Given the description of an element on the screen output the (x, y) to click on. 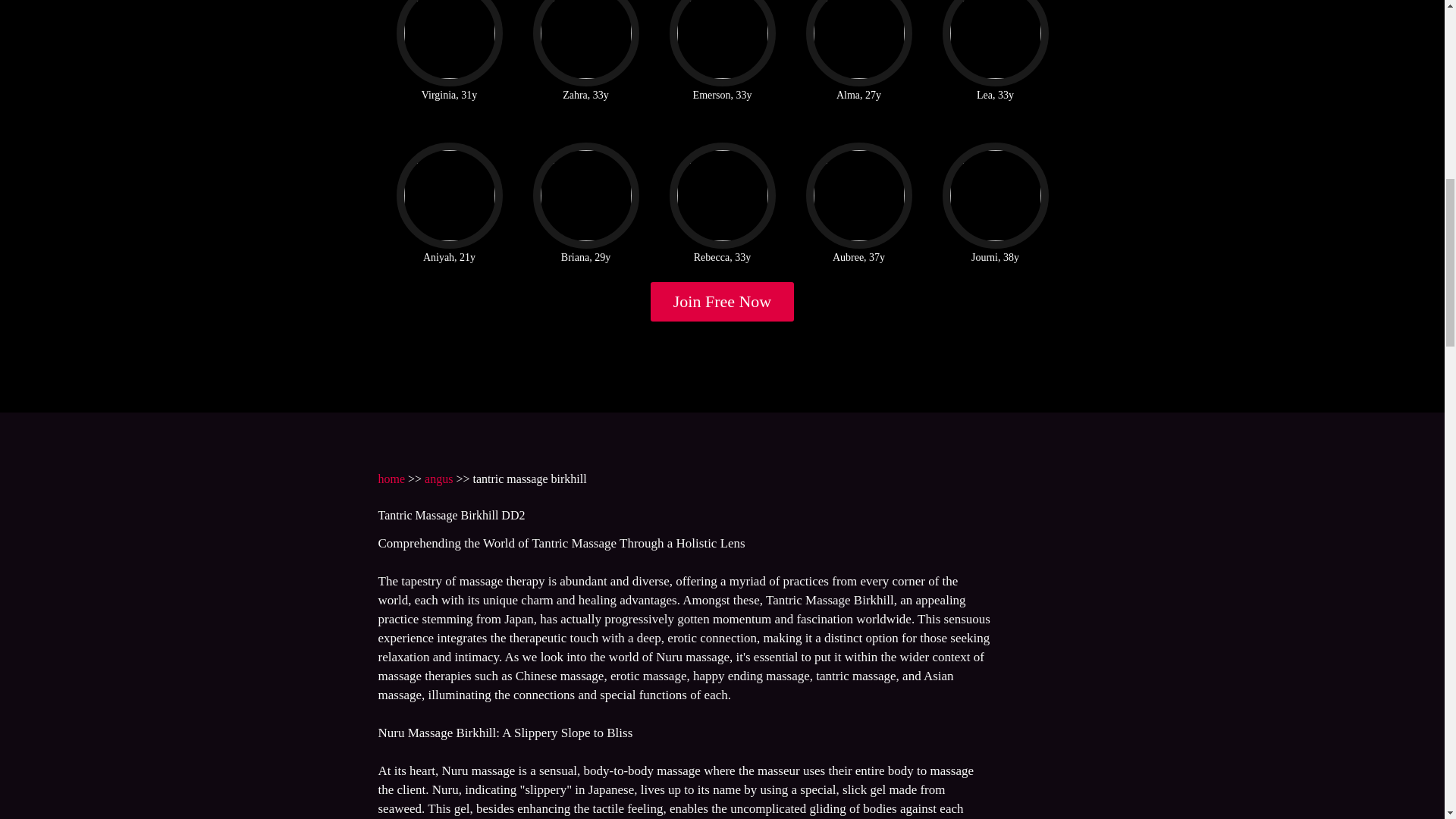
angus (438, 478)
Join (722, 301)
home (390, 478)
Join Free Now (722, 301)
